Given the description of an element on the screen output the (x, y) to click on. 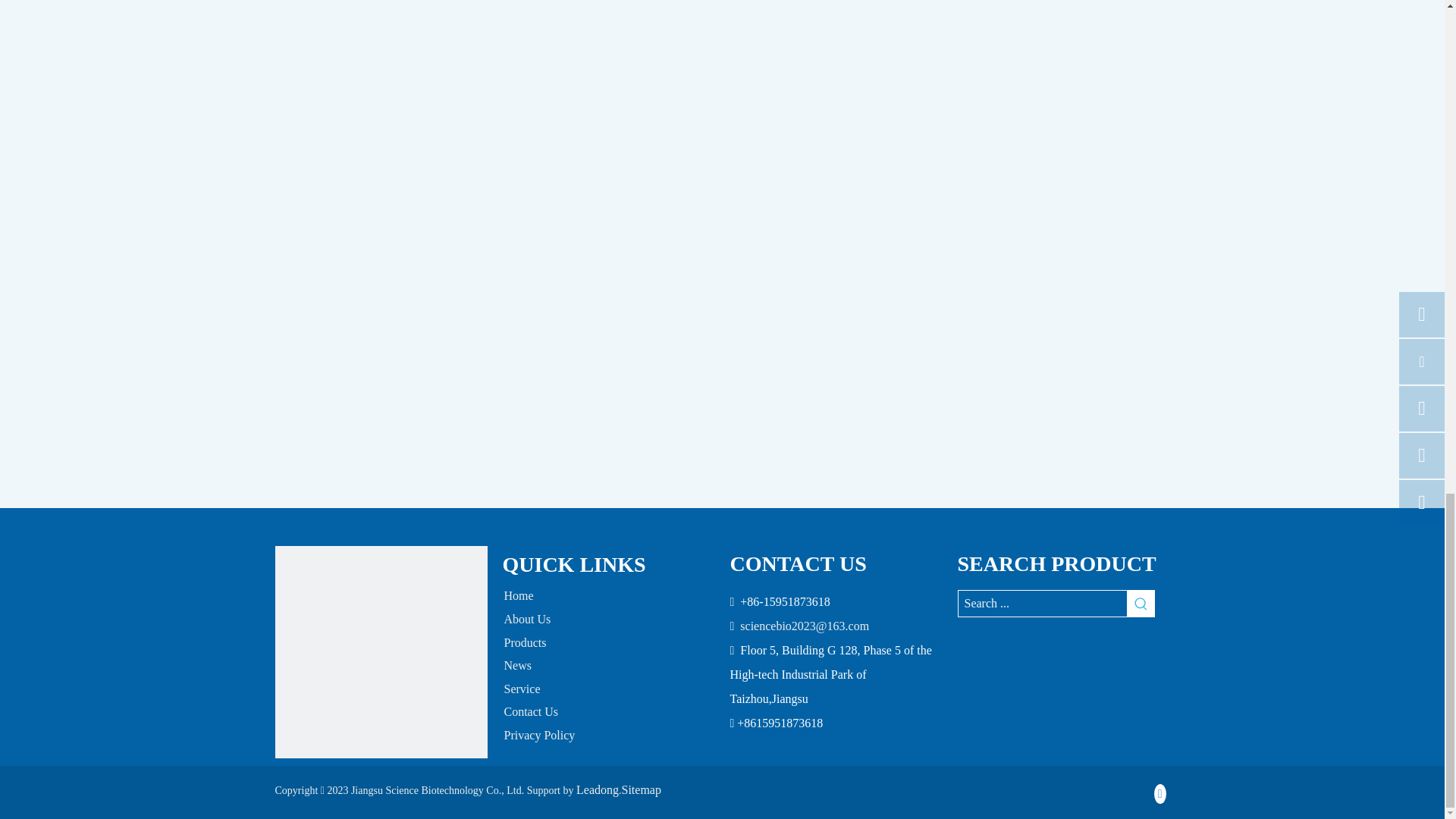
Contact Us (530, 711)
News (517, 665)
Privacy Policy (539, 735)
Service (521, 688)
Home (517, 594)
Products (524, 642)
About Us (526, 618)
